Given the description of an element on the screen output the (x, y) to click on. 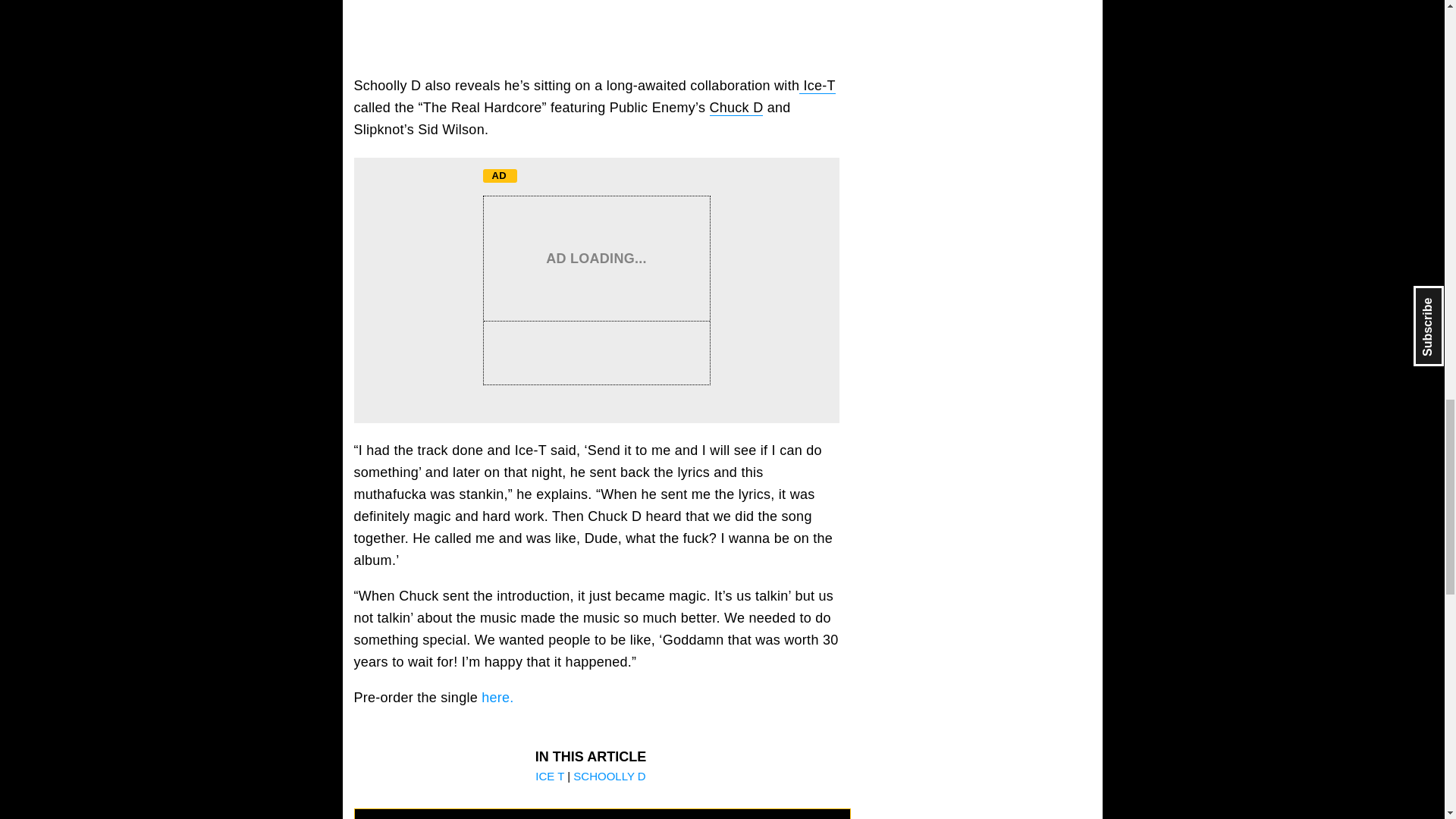
Ice-T (816, 85)
Chuck D (736, 107)
ICE T (551, 775)
here.  (499, 697)
